Given the description of an element on the screen output the (x, y) to click on. 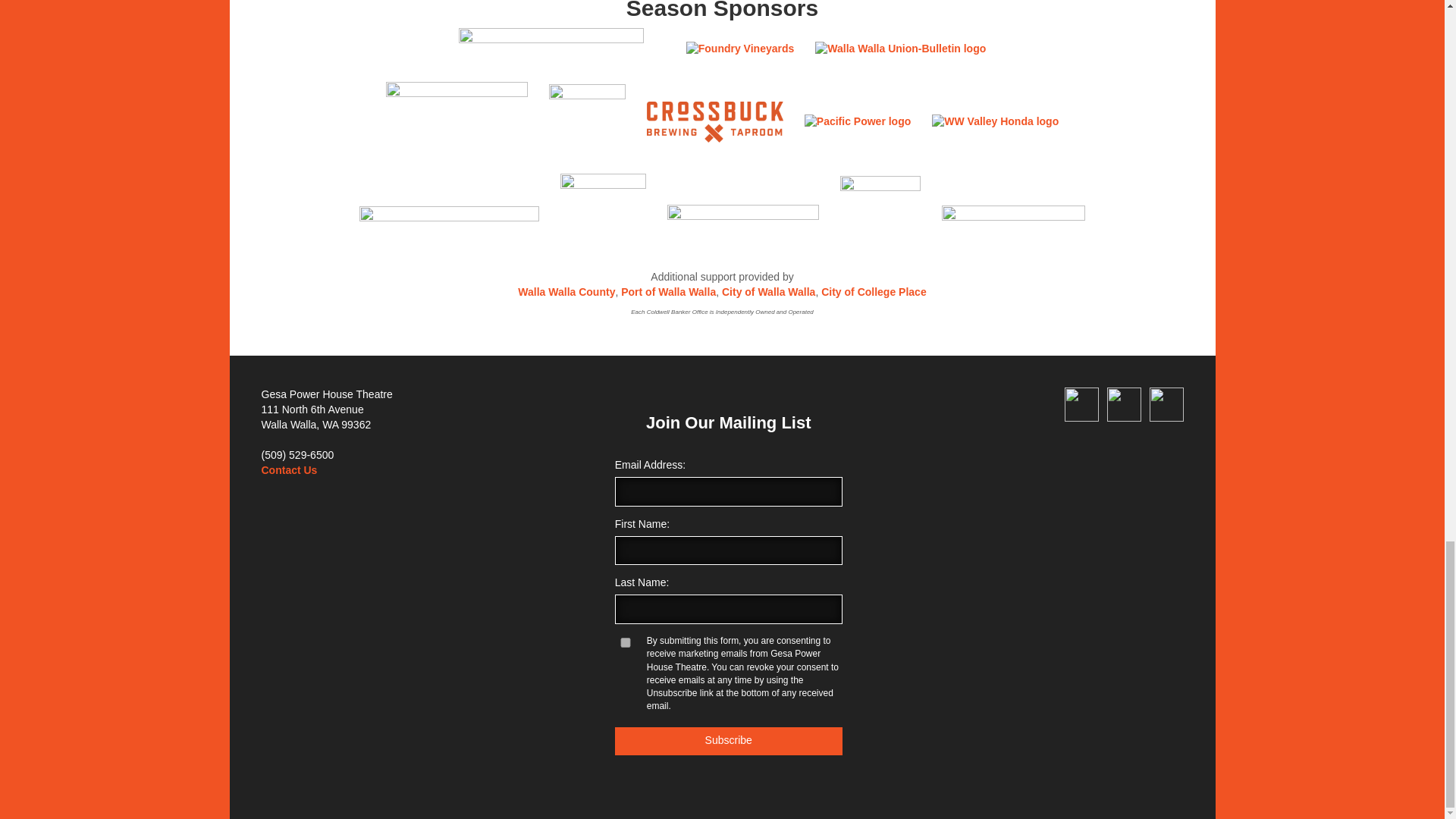
Subscribe (728, 741)
on (625, 642)
